Given the description of an element on the screen output the (x, y) to click on. 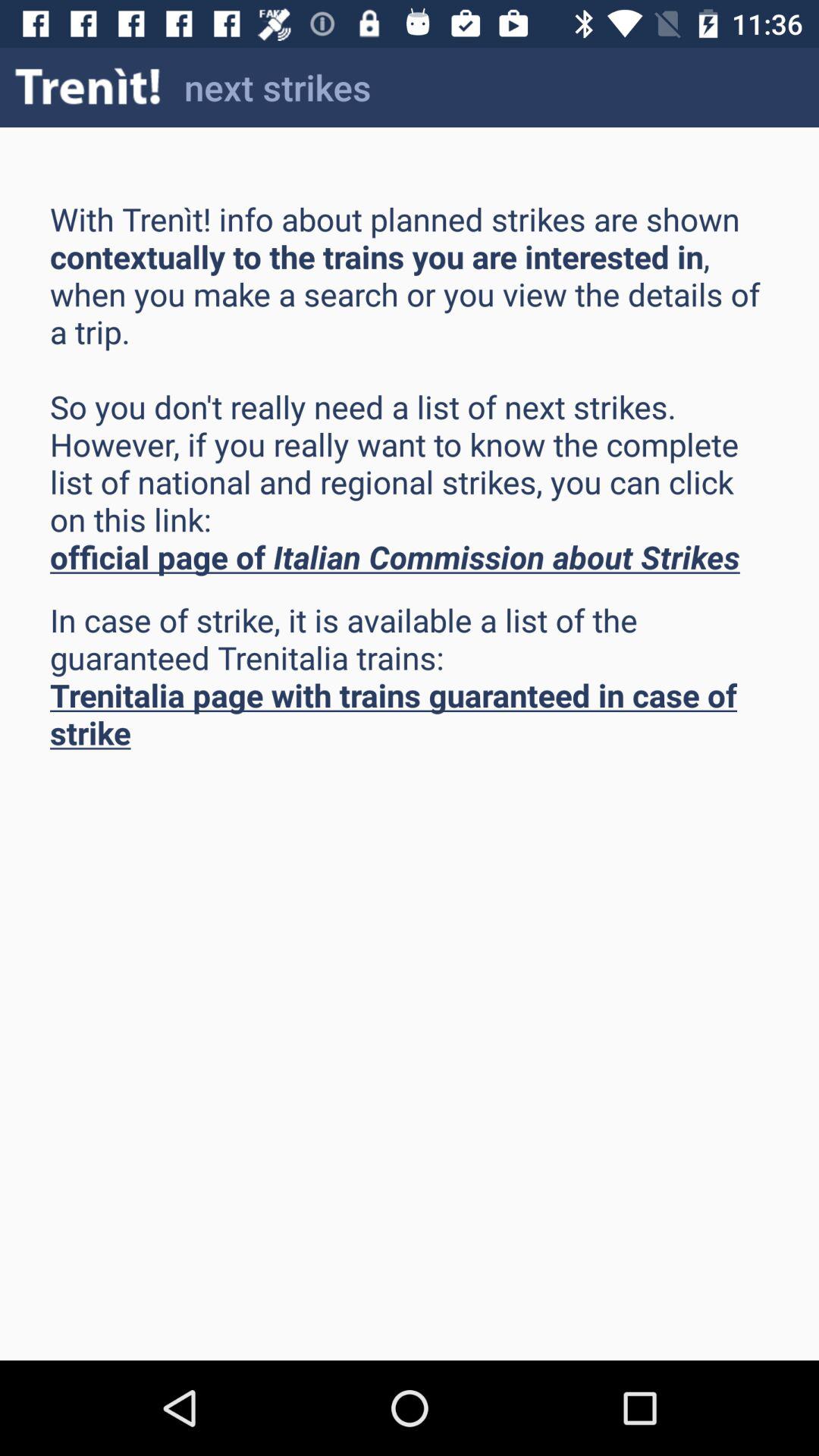
choose the item at the top left corner (88, 87)
